Given the description of an element on the screen output the (x, y) to click on. 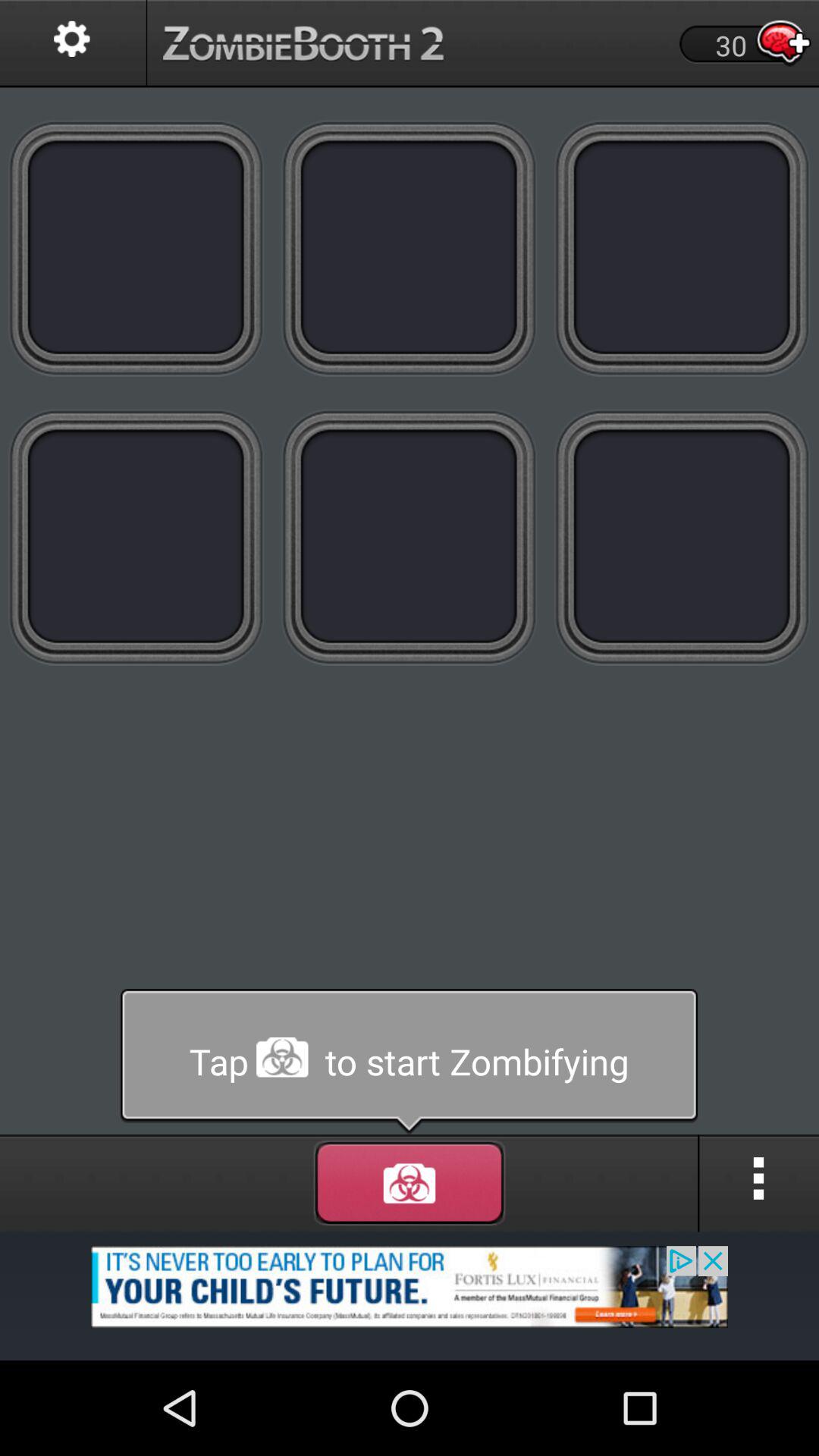
add photo (682, 536)
